Given the description of an element on the screen output the (x, y) to click on. 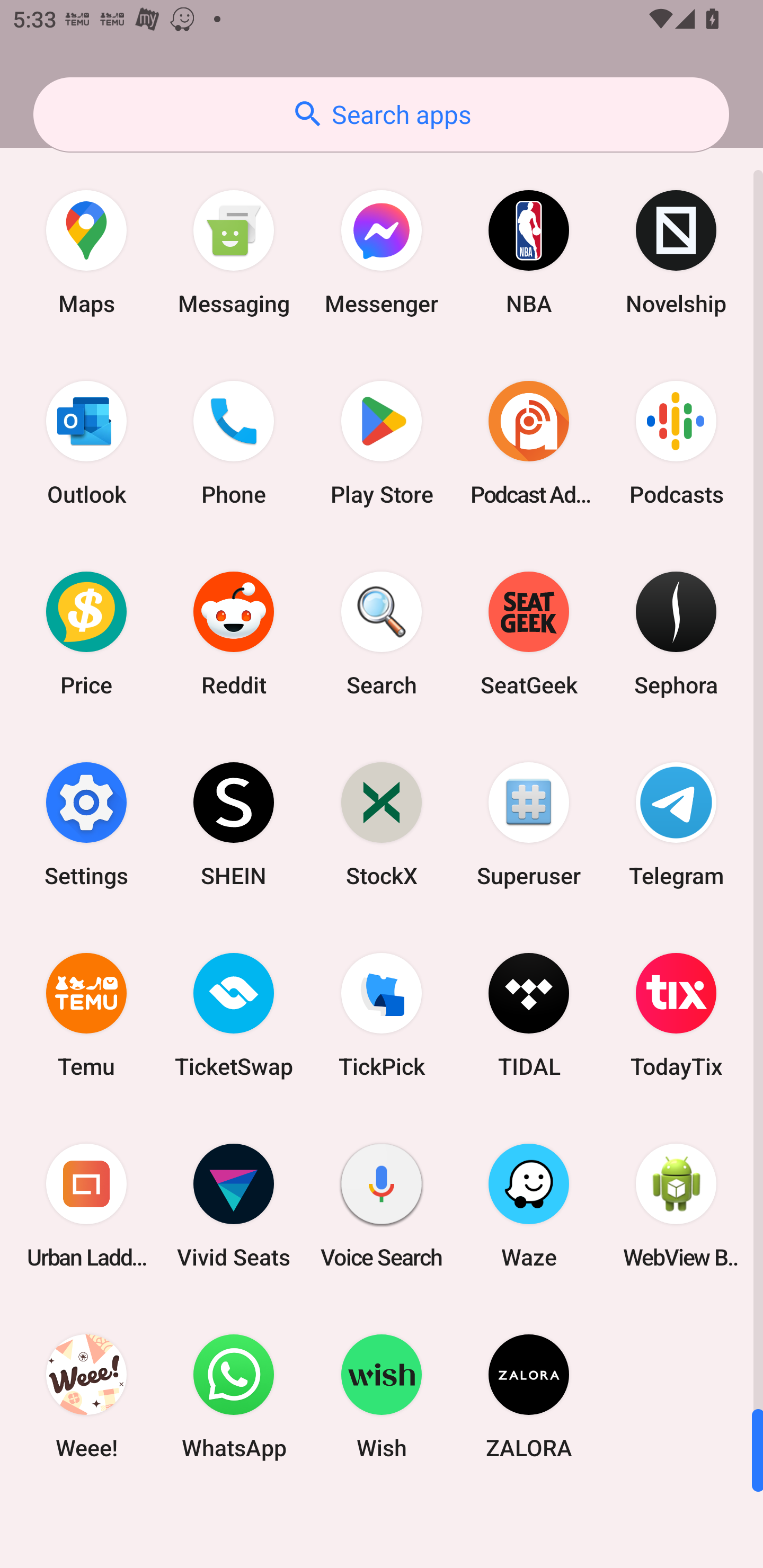
  Search apps (381, 114)
Maps (86, 252)
Messaging (233, 252)
Messenger (381, 252)
NBA (528, 252)
Novelship (676, 252)
Outlook (86, 442)
Phone (233, 442)
Play Store (381, 442)
Podcast Addict (528, 442)
Podcasts (676, 442)
Price (86, 633)
Reddit (233, 633)
Search (381, 633)
SeatGeek (528, 633)
Sephora (676, 633)
Settings (86, 823)
SHEIN (233, 823)
StockX (381, 823)
Superuser (528, 823)
Telegram (676, 823)
Temu (86, 1014)
TicketSwap (233, 1014)
TickPick (381, 1014)
TIDAL (528, 1014)
TodayTix (676, 1014)
Urban Ladder (86, 1205)
Vivid Seats (233, 1205)
Voice Search (381, 1205)
Waze (528, 1205)
WebView Browser Tester (676, 1205)
Weee! (86, 1396)
WhatsApp (233, 1396)
Wish (381, 1396)
ZALORA (528, 1396)
